Given the description of an element on the screen output the (x, y) to click on. 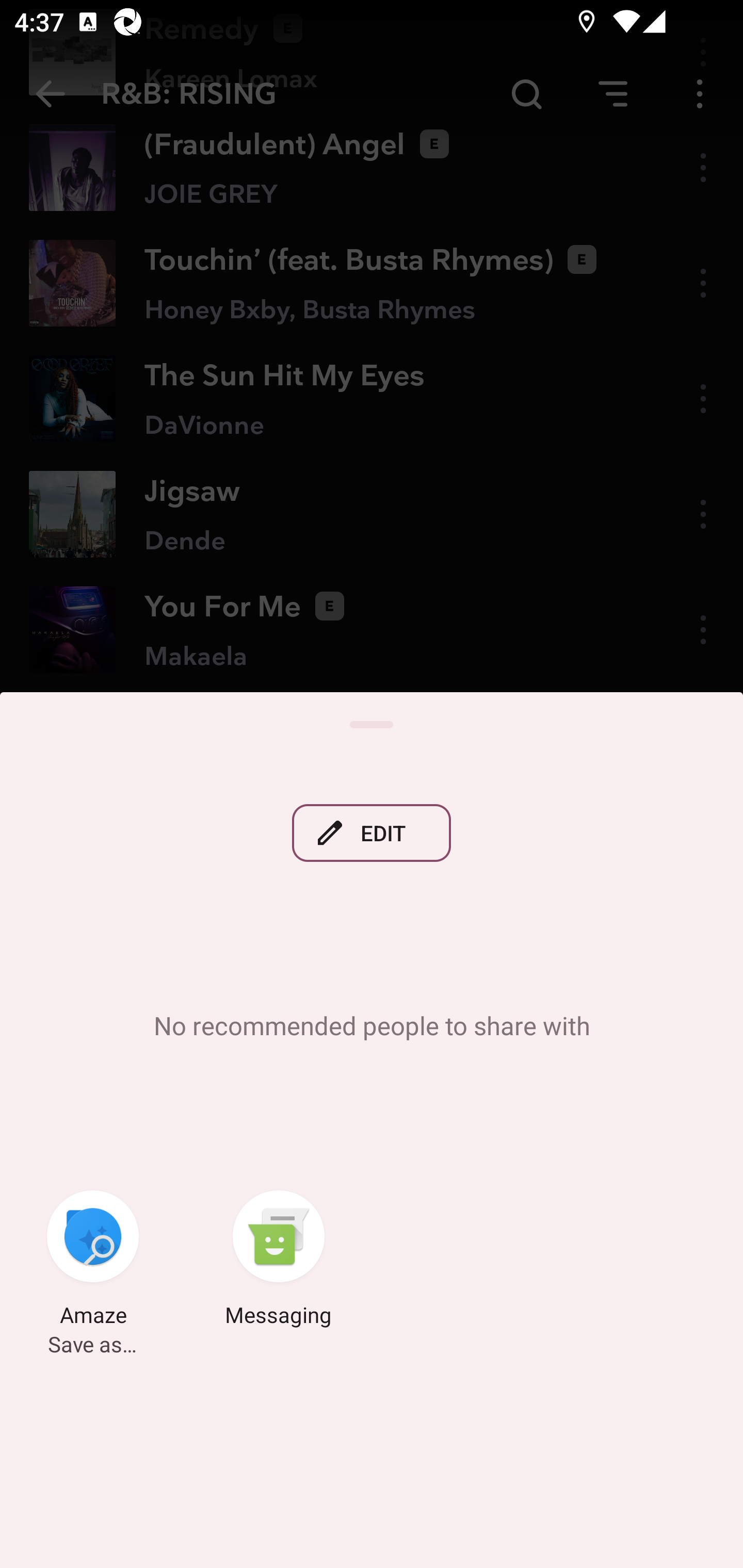
EDIT (371, 833)
Amaze Save as… (92, 1261)
Messaging (278, 1261)
